Given the description of an element on the screen output the (x, y) to click on. 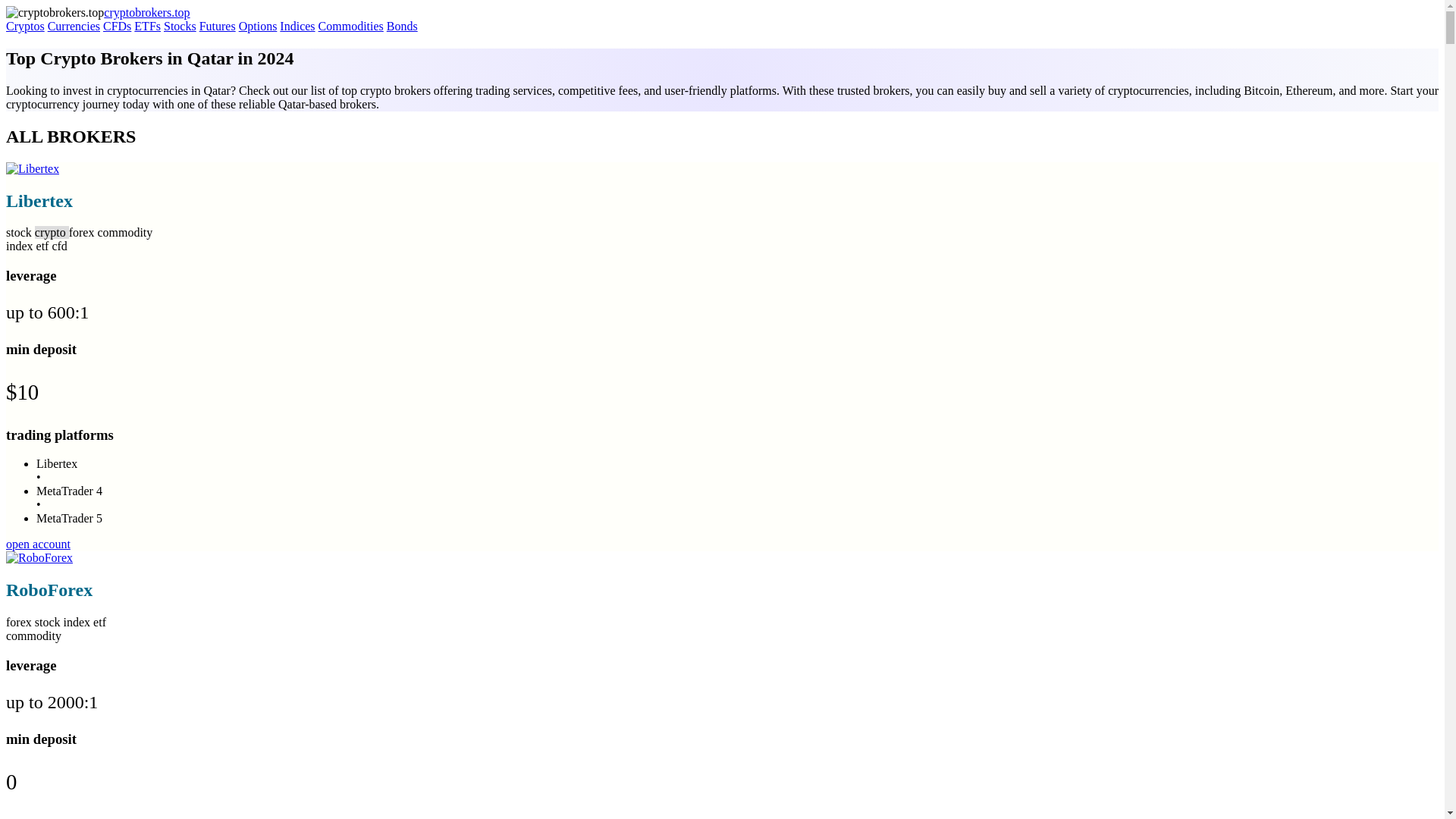
Currencies (74, 25)
Futures (217, 25)
Stocks (179, 25)
Bonds (402, 25)
open account (37, 543)
Indices (296, 25)
CFDs (117, 25)
Options (258, 25)
Cryptos (25, 25)
cryptobrokers.top (146, 11)
